Given the description of an element on the screen output the (x, y) to click on. 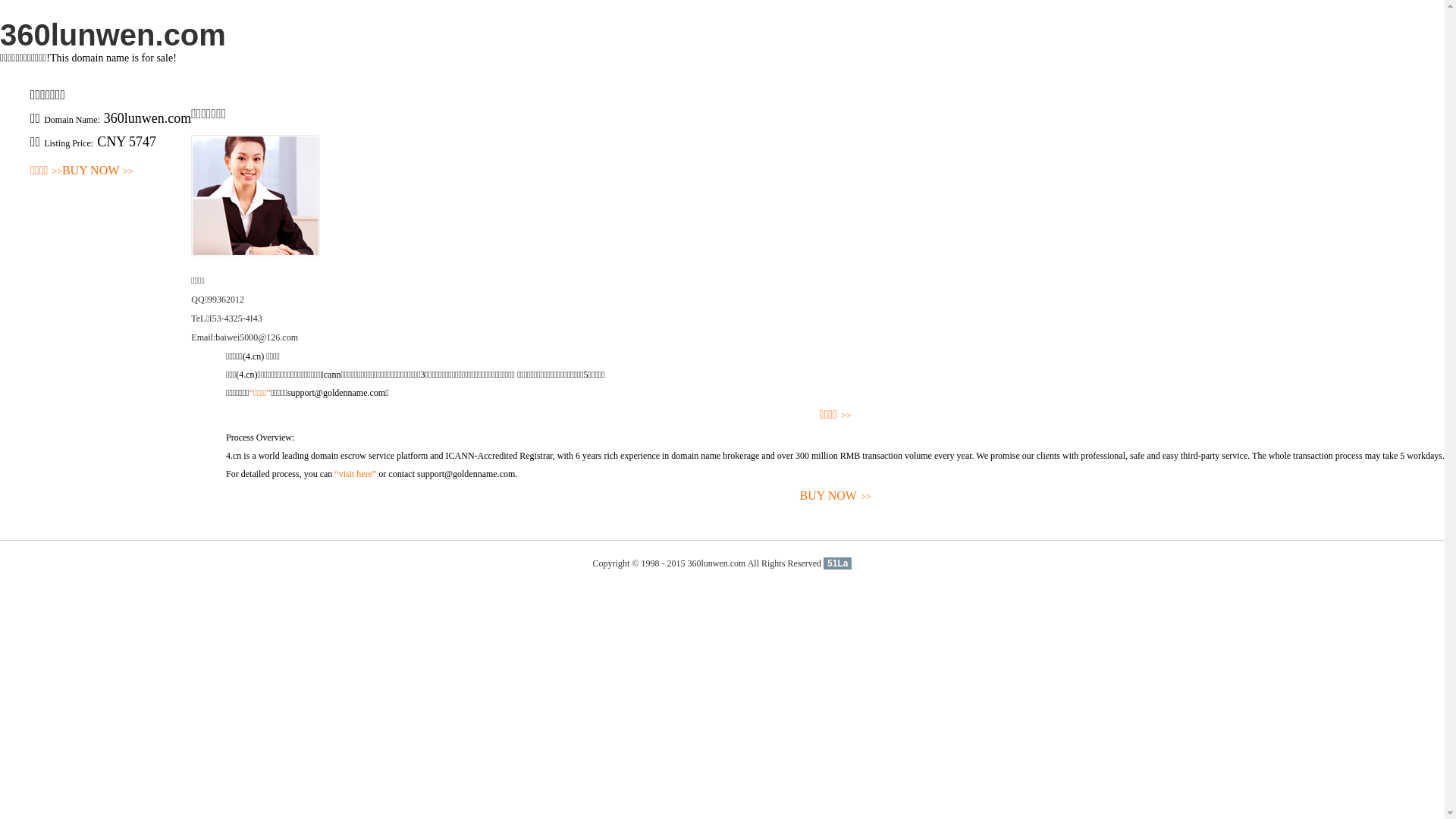
BUY NOW>> Element type: text (97, 170)
BUY NOW>> Element type: text (834, 496)
51La Element type: text (837, 563)
